Given the description of an element on the screen output the (x, y) to click on. 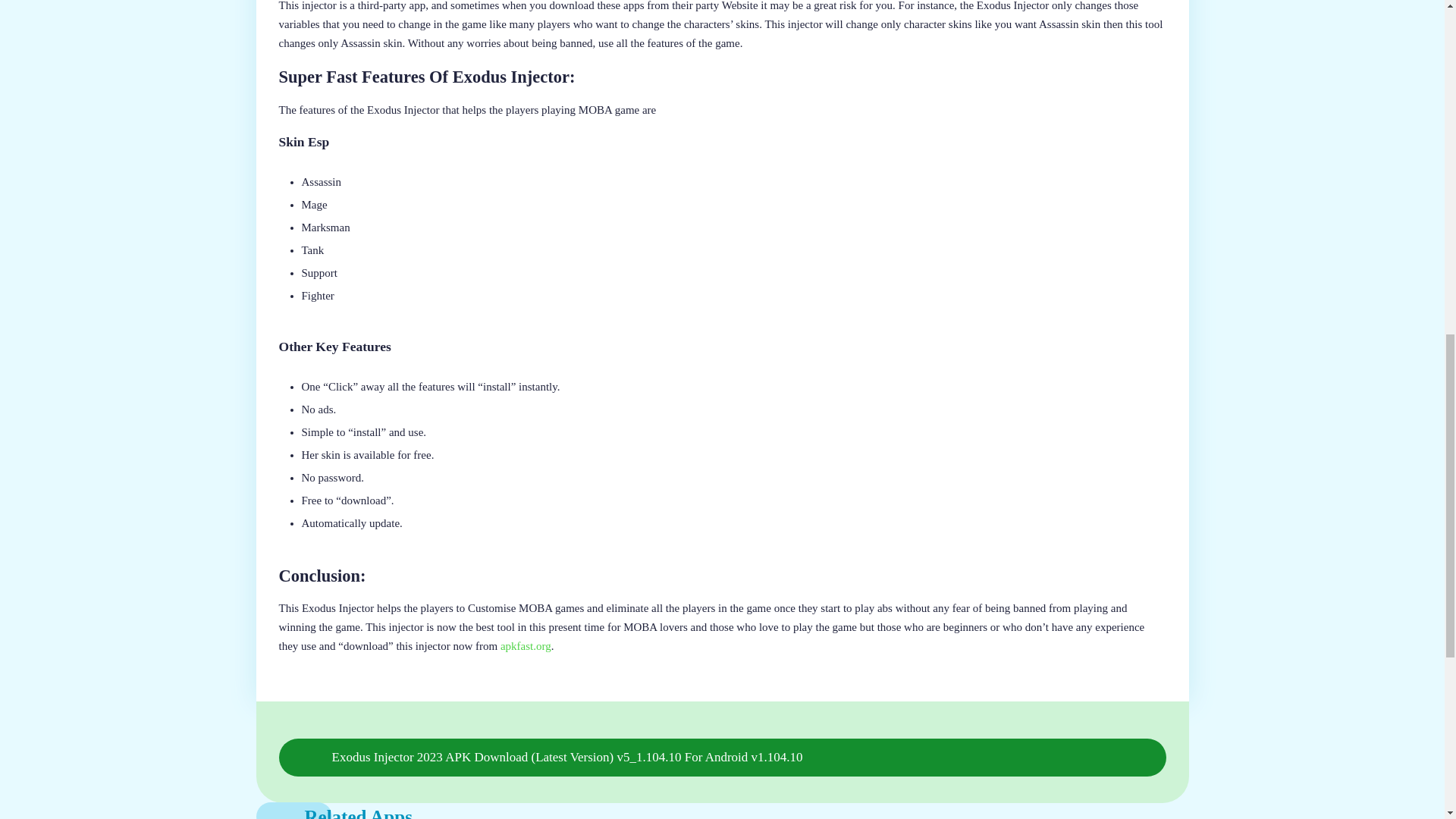
apkfast.org (525, 646)
